Given the description of an element on the screen output the (x, y) to click on. 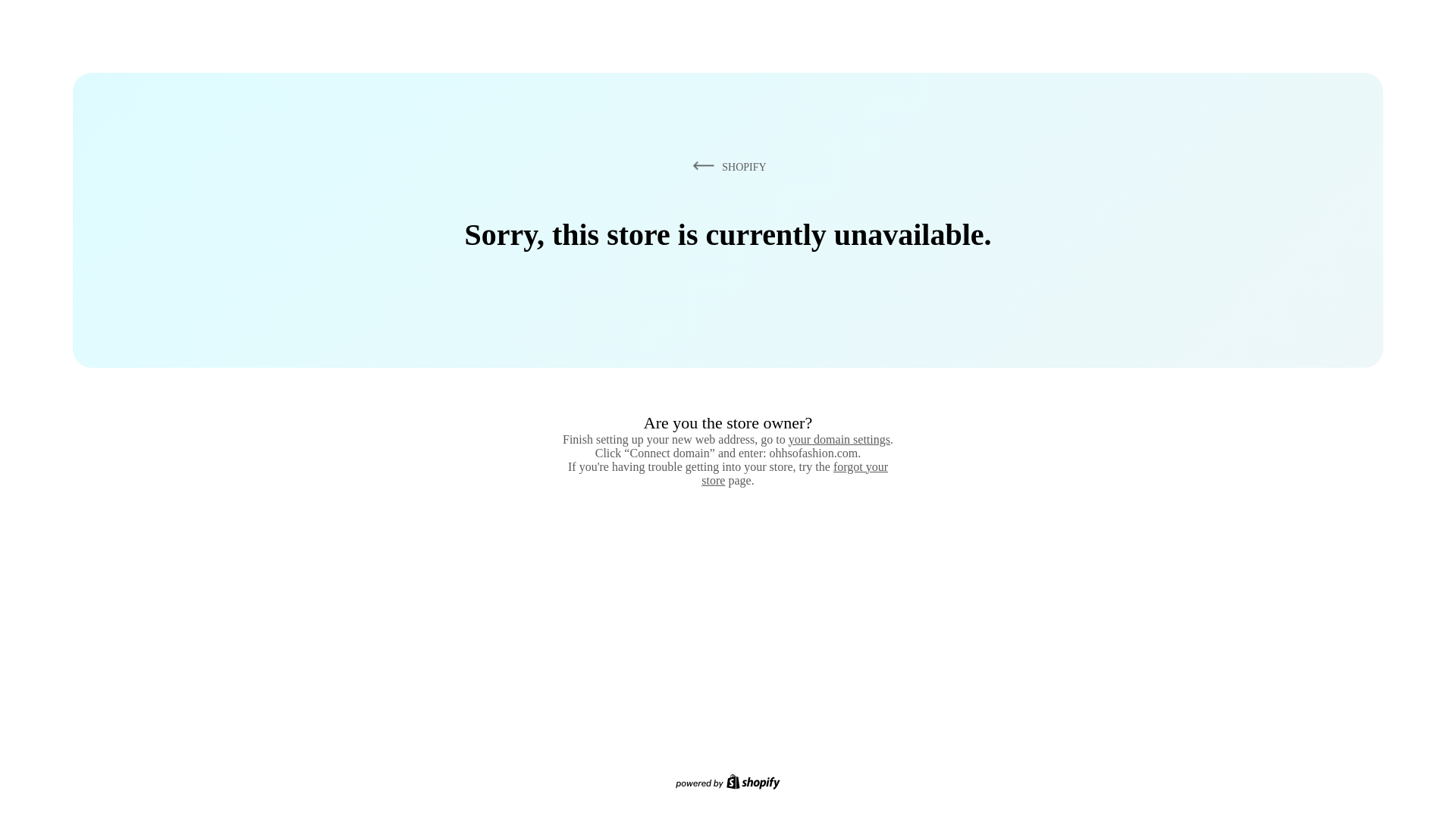
forgot your store (794, 473)
SHOPIFY (726, 166)
your domain settings (839, 439)
